Given the description of an element on the screen output the (x, y) to click on. 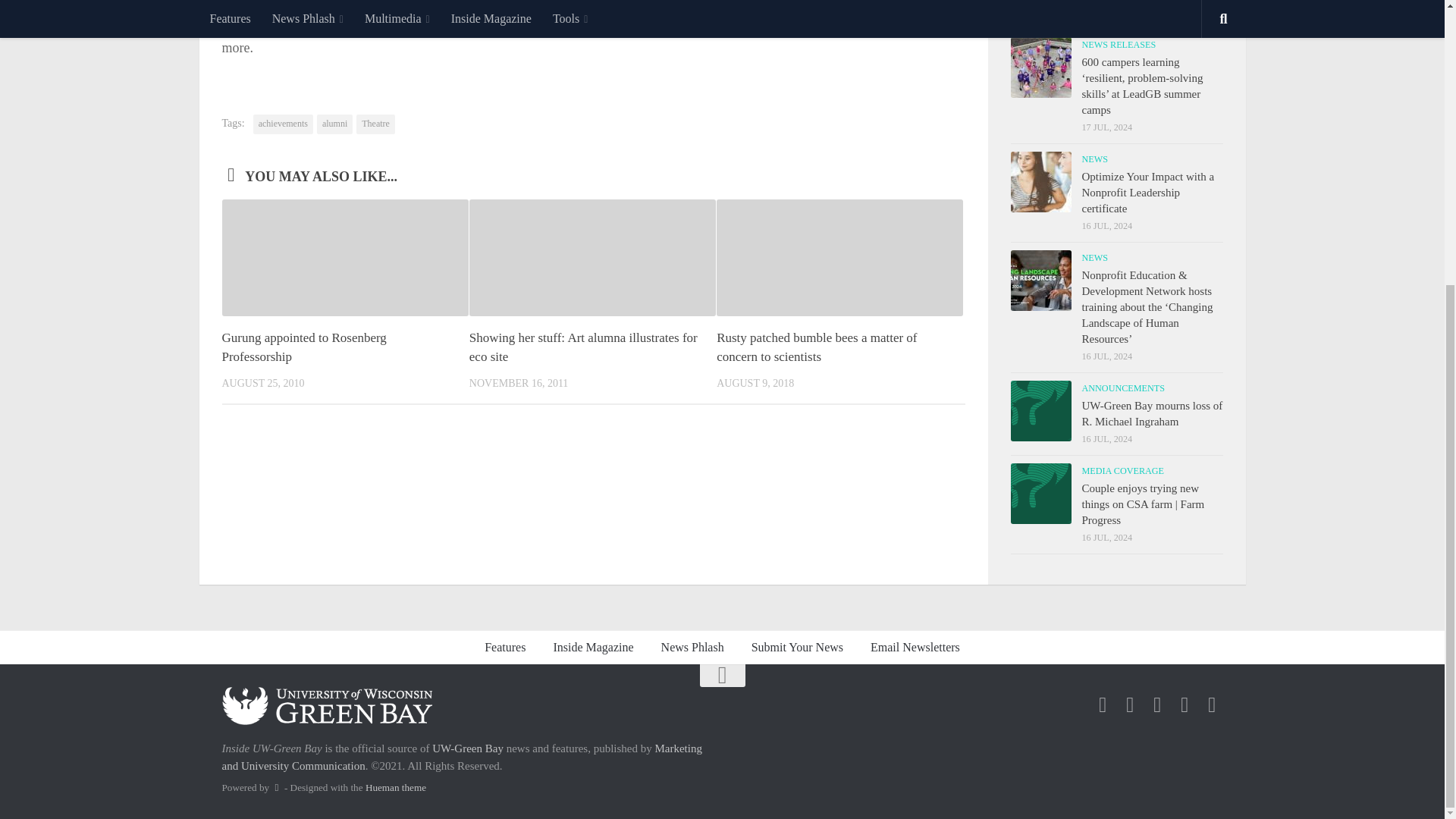
alumni (334, 124)
Rusty patched bumble bees a matter of concern to scientists (816, 347)
Tags (1169, 11)
achievements (283, 124)
Theatre (375, 124)
click here (866, 25)
Recent Posts (1063, 11)
Gurung appointed to Rosenberg Professorship (303, 347)
Showing her stuff: Art alumna illustrates for eco site (582, 347)
